Given the description of an element on the screen output the (x, y) to click on. 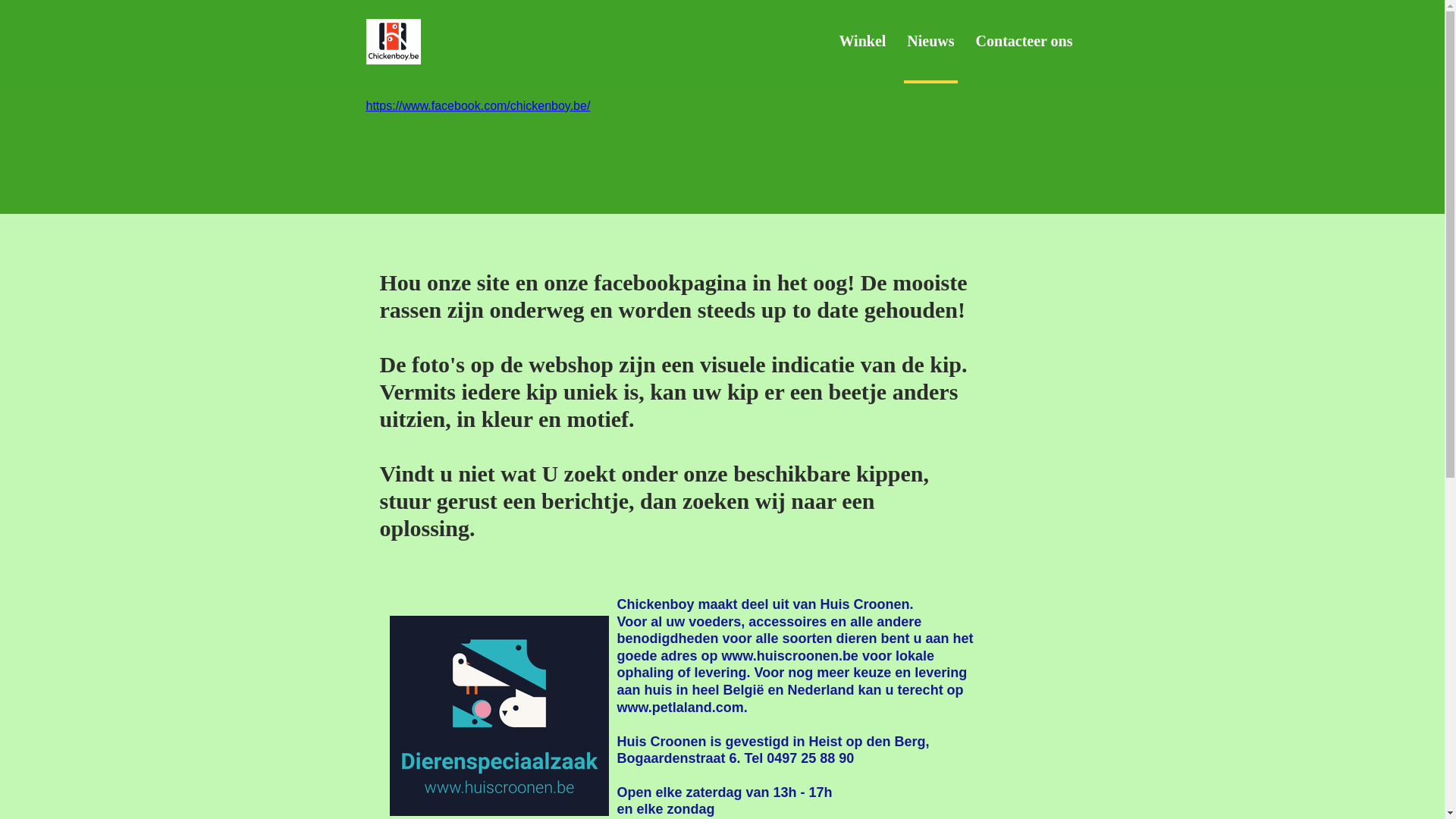
Contacteer ons Element type: text (1024, 53)
https://www.facebook.com/chickenboy.be/ Element type: text (477, 105)
Nieuws Element type: text (930, 53)
Winkel Element type: text (861, 53)
